Given the description of an element on the screen output the (x, y) to click on. 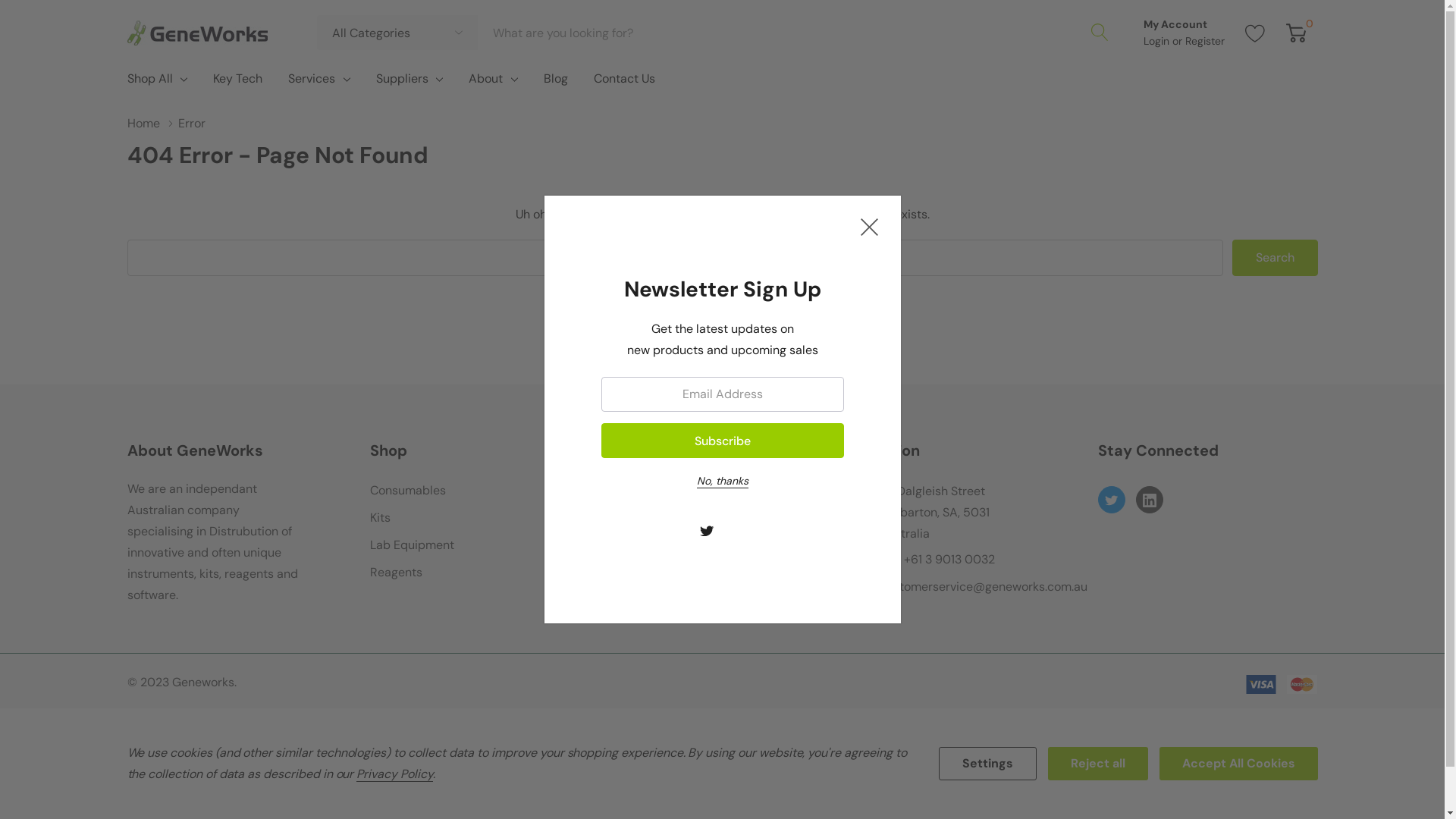
0 Element type: text (1296, 32)
EdgeBio Element type: text (635, 572)
Disclaimer Element type: text (1203, 717)
Call +61 3 9013 0032 Element type: text (936, 559)
Register Element type: text (1203, 40)
Privacy Policy Element type: text (721, 717)
Consumables Element type: text (407, 490)
Geneworks Element type: hover (197, 31)
Kits Element type: text (380, 517)
Settings Element type: text (987, 763)
Shop All Element type: text (149, 78)
Search Element type: text (1274, 257)
Open Linkedin in a new tab Element type: hover (737, 531)
Accept All Cookies Element type: text (1237, 763)
Reject all Element type: text (1098, 763)
Nippon Genetics Element type: text (659, 517)
Login Element type: text (1157, 40)
OptiGene Element type: text (639, 544)
Lab Equipment Element type: text (412, 544)
Services Element type: text (311, 78)
Privacy Policy Element type: text (394, 773)
Terms and Conditions Element type: text (240, 717)
Home Element type: text (152, 123)
Key Tech Element type: text (237, 81)
View All Element type: text (634, 599)
Suppliers Element type: text (402, 78)
customerservice@geneworks.com.au Element type: text (983, 586)
Akoya Element type: text (629, 490)
Contact Us Element type: text (624, 81)
About Element type: text (485, 78)
Reagents Element type: text (396, 572)
Open Linkedin in a new tab Element type: hover (1148, 500)
Open Twitter in a new tab Element type: hover (707, 531)
Subscribe Element type: text (721, 440)
Blog Element type: text (555, 81)
Open Twitter in a new tab Element type: hover (1110, 500)
